Given the description of an element on the screen output the (x, y) to click on. 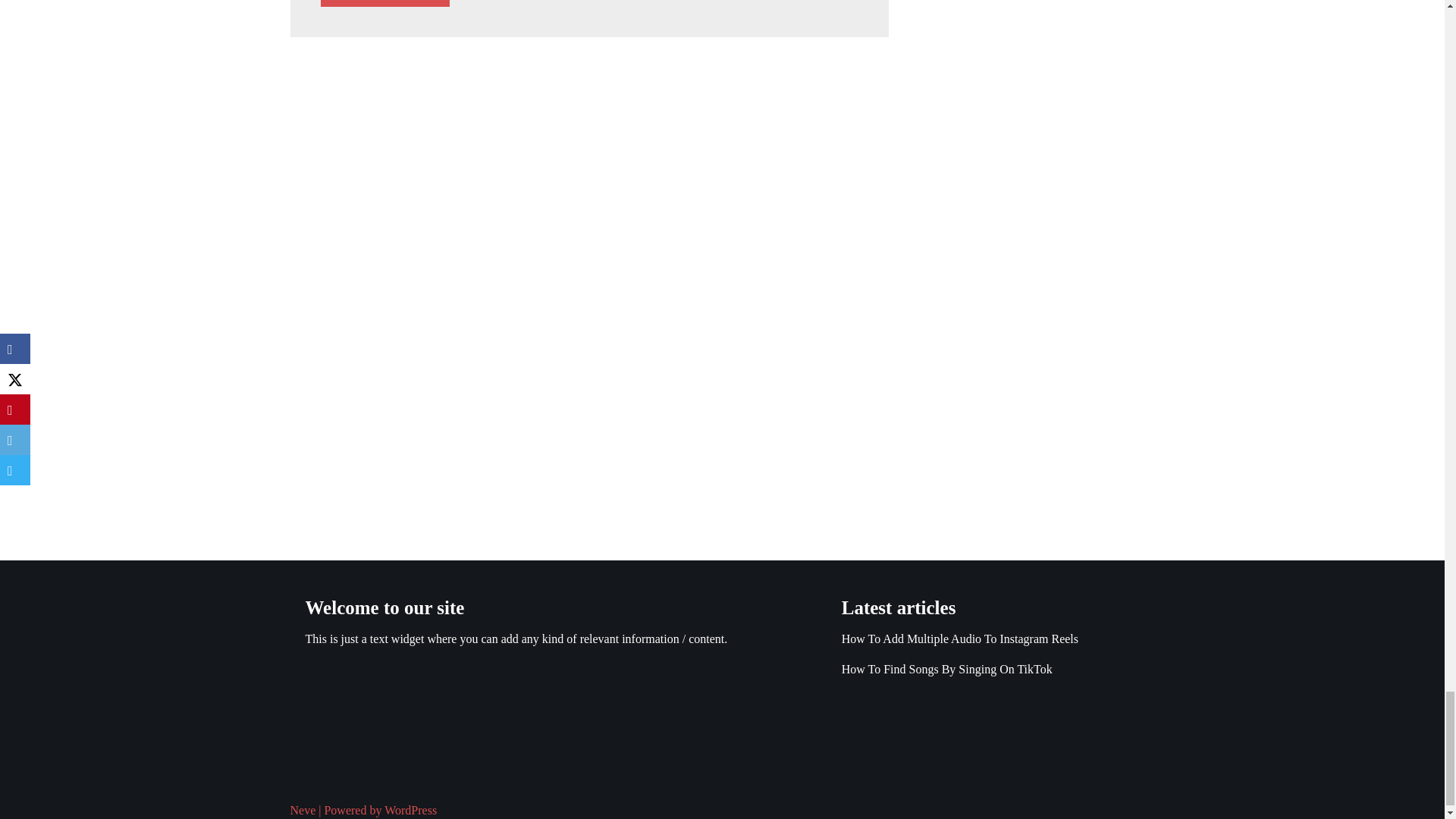
How To Add Multiple Audio To Instagram Reels (959, 638)
Post Comment (384, 3)
How To Find Songs By Singing On TikTok (946, 668)
Post Comment (384, 3)
